Given the description of an element on the screen output the (x, y) to click on. 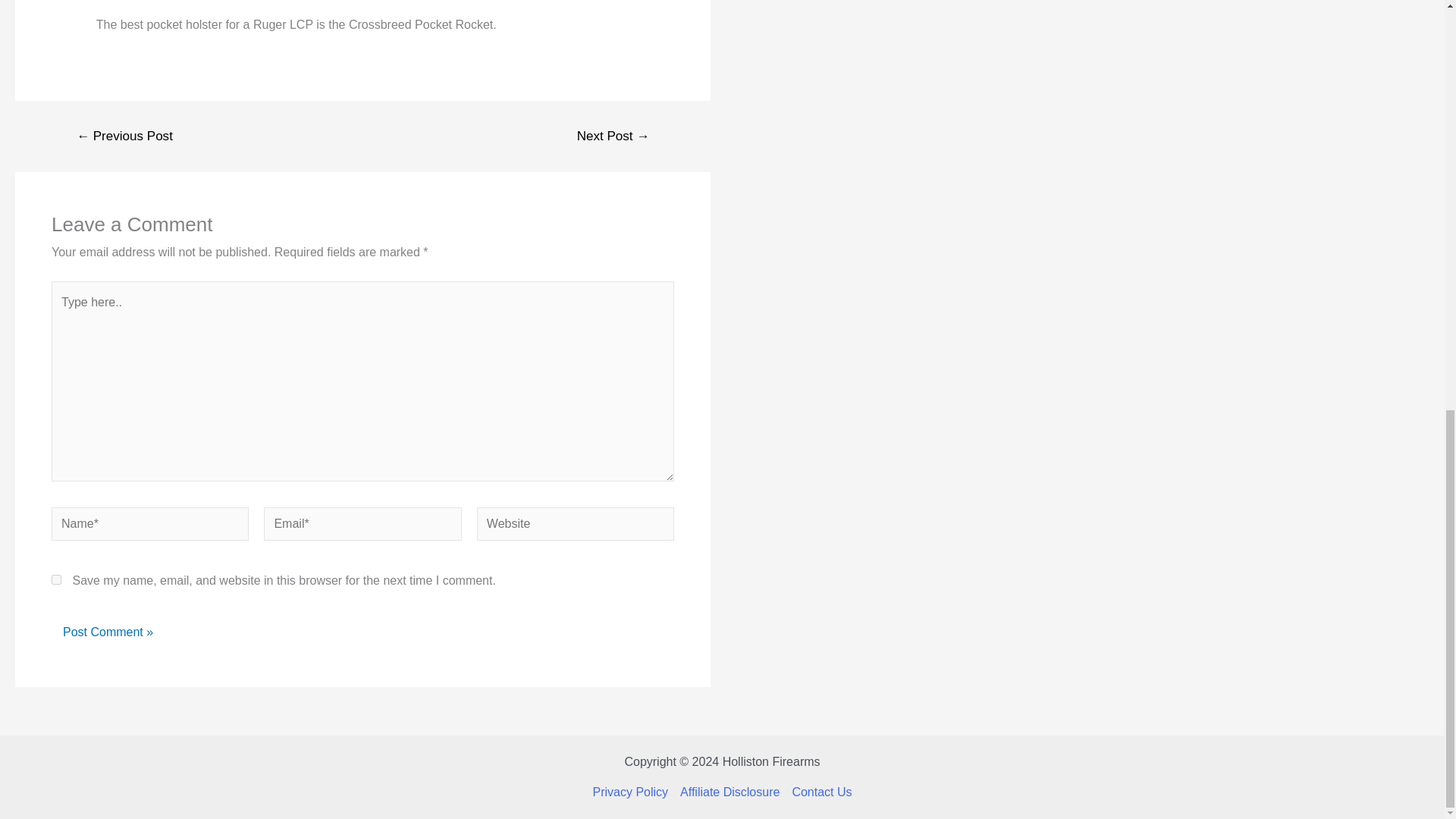
Contact Us (818, 792)
Privacy Policy (633, 792)
Affiliate Disclosure (730, 792)
yes (55, 579)
